Given the description of an element on the screen output the (x, y) to click on. 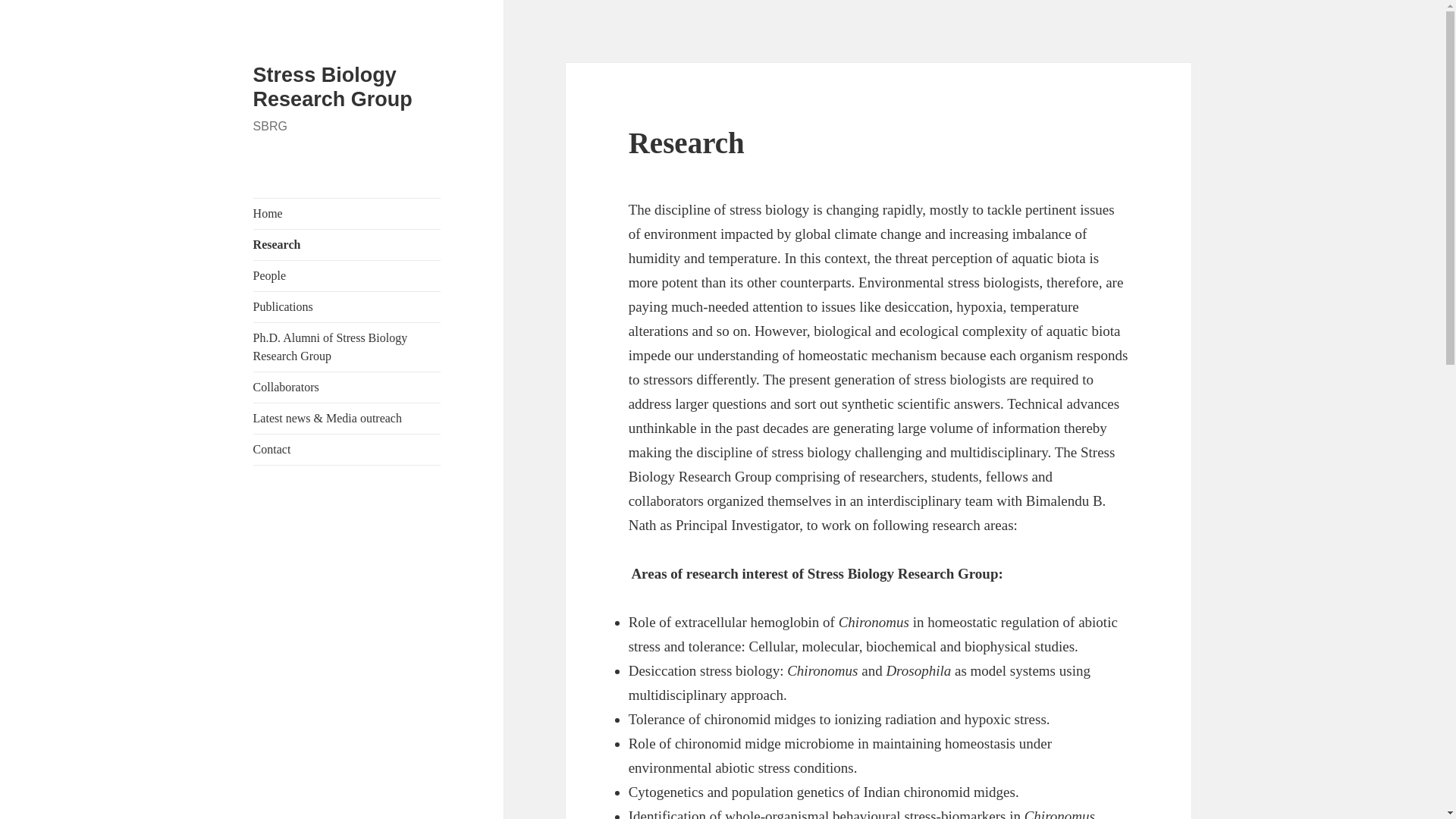
Contact (347, 449)
Ph.D. Alumni of Stress Biology Research Group (347, 346)
Home (347, 214)
Research (347, 245)
Publications (347, 306)
People (347, 276)
Stress Biology Research Group (332, 86)
Collaborators (347, 387)
